Given the description of an element on the screen output the (x, y) to click on. 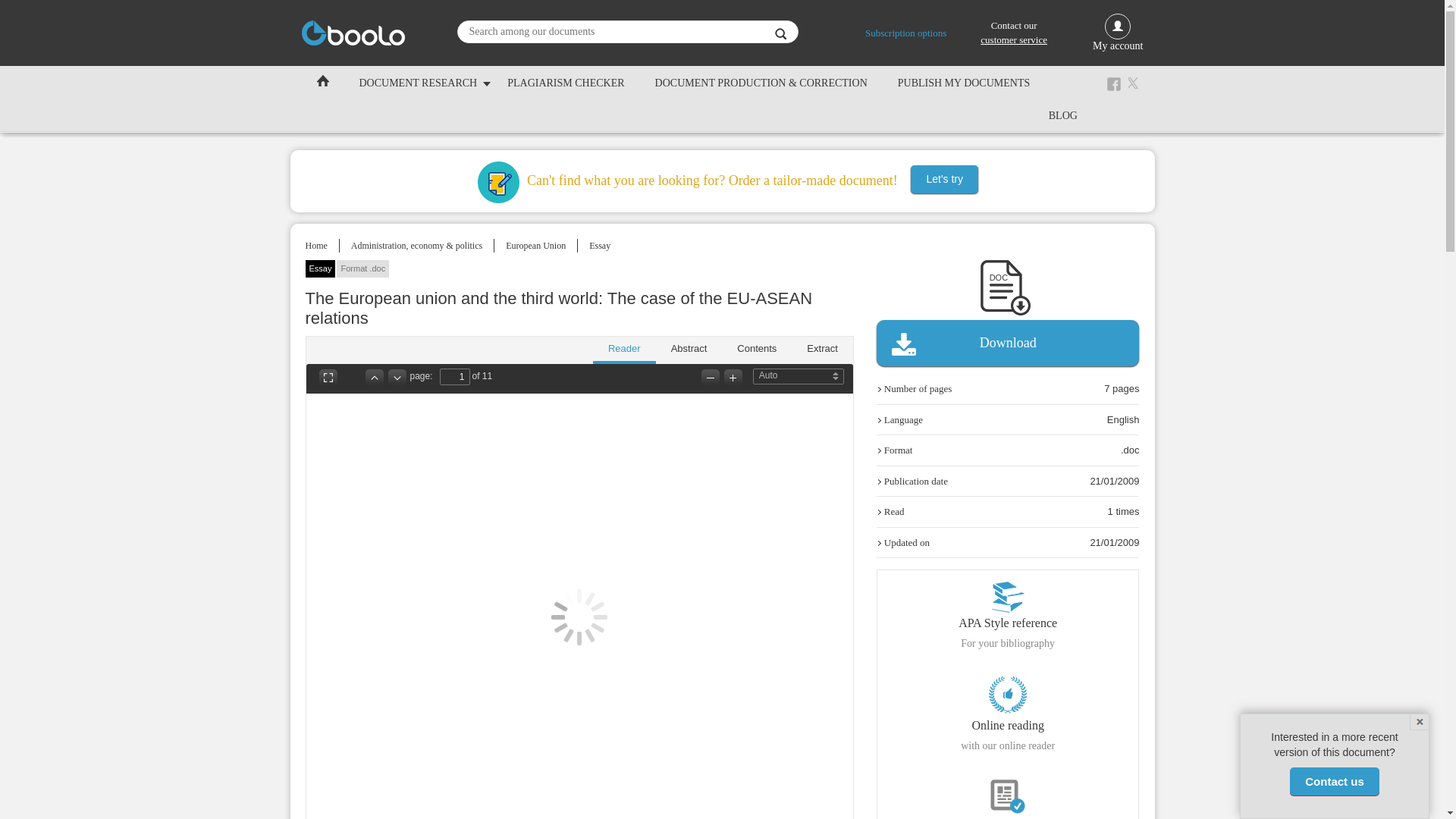
Follow us on Twitter (1135, 82)
Home (315, 245)
Subscription options (905, 32)
Blog (1063, 114)
Zoom (807, 374)
PLAGIARISM CHECKER (565, 82)
Publish my documents (963, 82)
Follow us on Facebook (1113, 83)
BLOG (1063, 114)
European Union (535, 245)
